Given the description of an element on the screen output the (x, y) to click on. 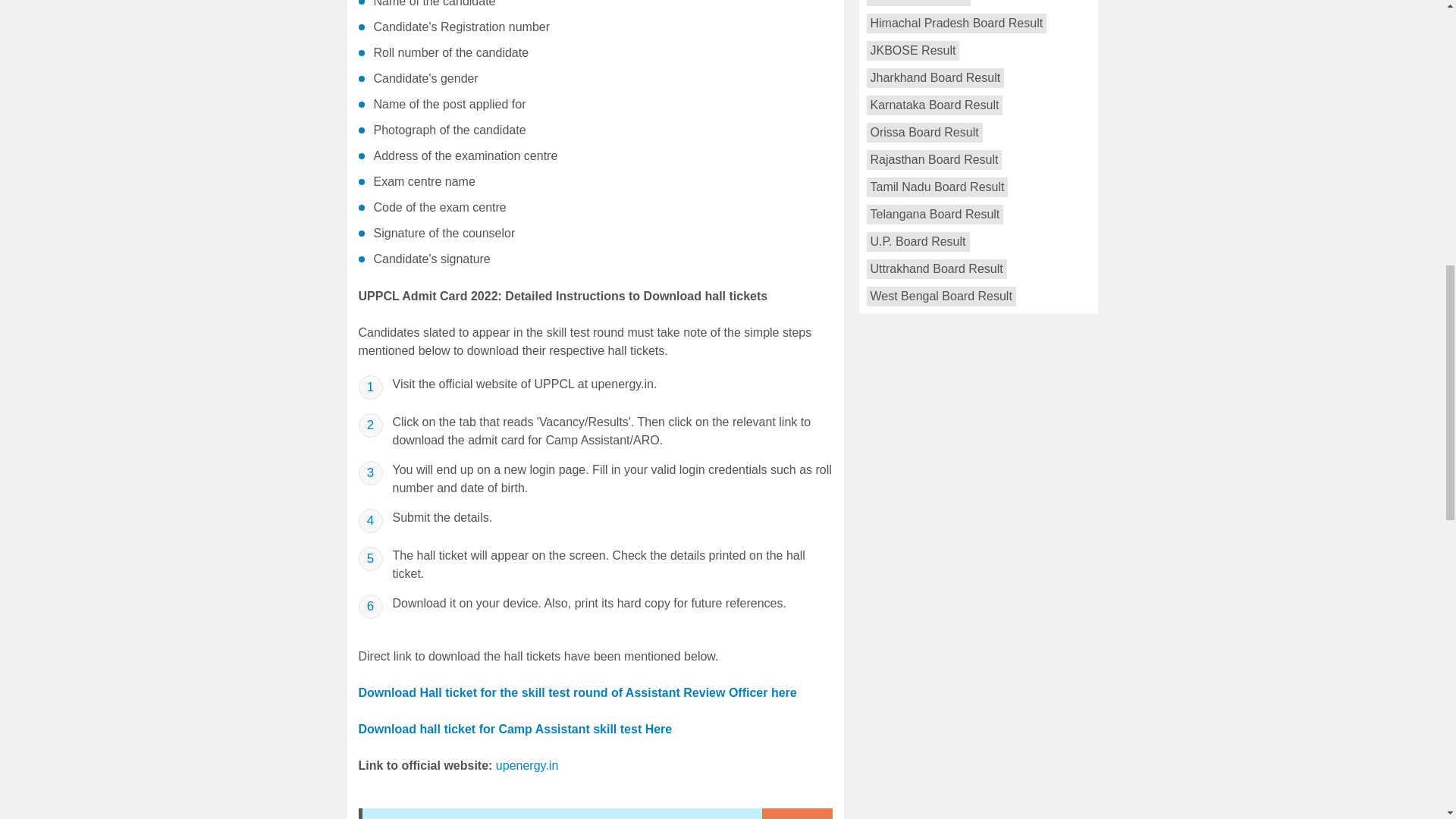
upenergy.in (526, 765)
Download hall ticket for Camp Assistant skill test Here (514, 728)
